Given the description of an element on the screen output the (x, y) to click on. 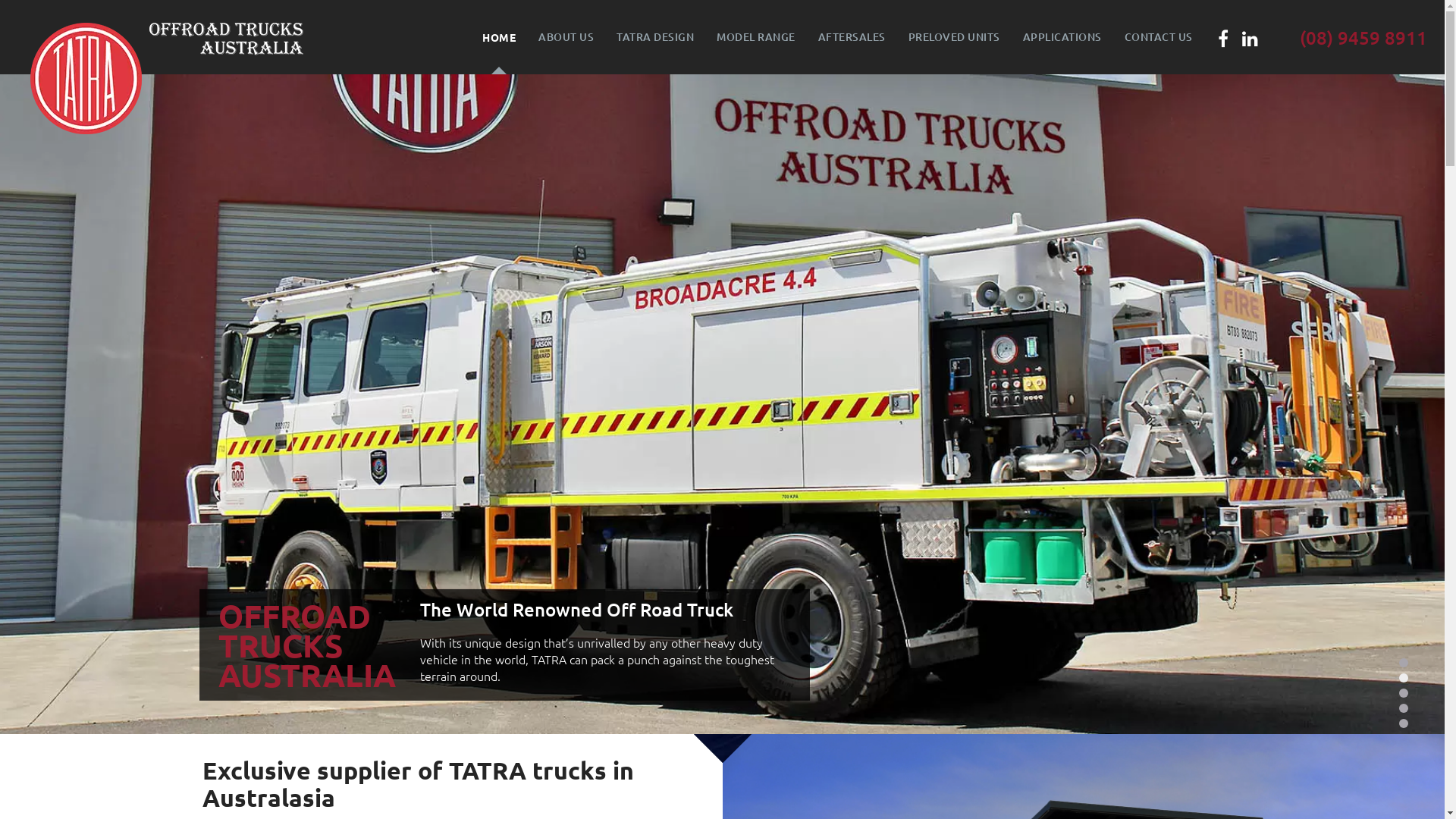
ABOUT US Element type: text (566, 37)
APPLICATIONS Element type: text (1062, 37)
1 Element type: text (1403, 662)
5 Element type: text (1403, 723)
Offroad Trucks Australia Element type: hover (226, 37)
MODEL RANGE Element type: text (755, 37)
PRELOVED UNITS Element type: text (953, 37)
(08) 9459 8911 Element type: text (1363, 37)
2 Element type: text (1403, 677)
HOME Element type: text (498, 37)
4 Element type: text (1403, 707)
CONTACT US Element type: text (1158, 37)
TATRA DESIGN Element type: text (655, 37)
3 Element type: text (1403, 692)
AFTERSALES Element type: text (851, 37)
